Given the description of an element on the screen output the (x, y) to click on. 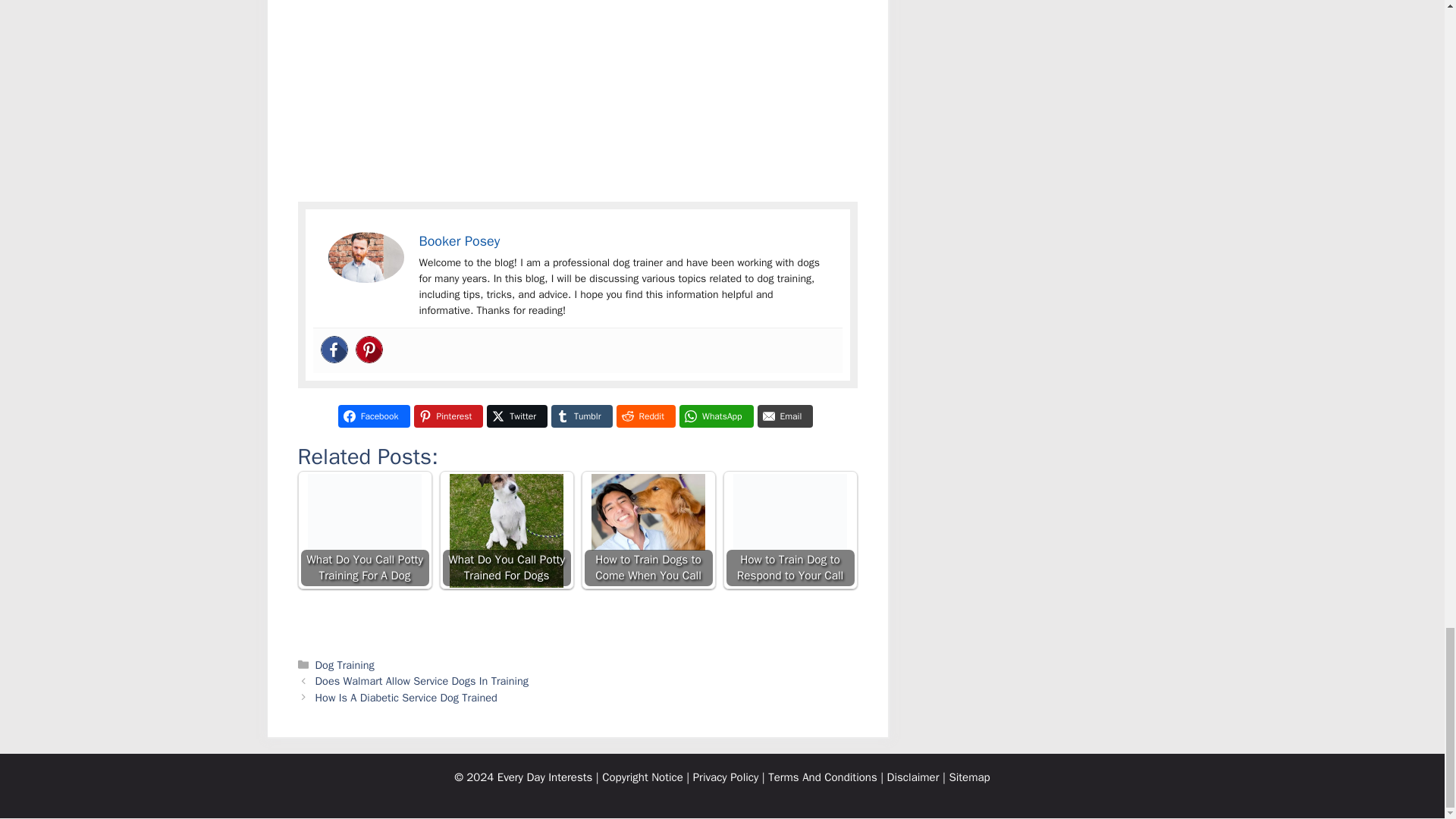
Share on Tumblr (581, 415)
What Do You Call A Service Dog Trainer 2 (365, 256)
Share on Email (785, 415)
Share on Pinterest (448, 415)
Share on Twitter (516, 415)
Share on WhatsApp (716, 415)
Share on Reddit (645, 415)
Pinterest (368, 349)
Facebook (333, 349)
Share on Facebook (373, 415)
